Given the description of an element on the screen output the (x, y) to click on. 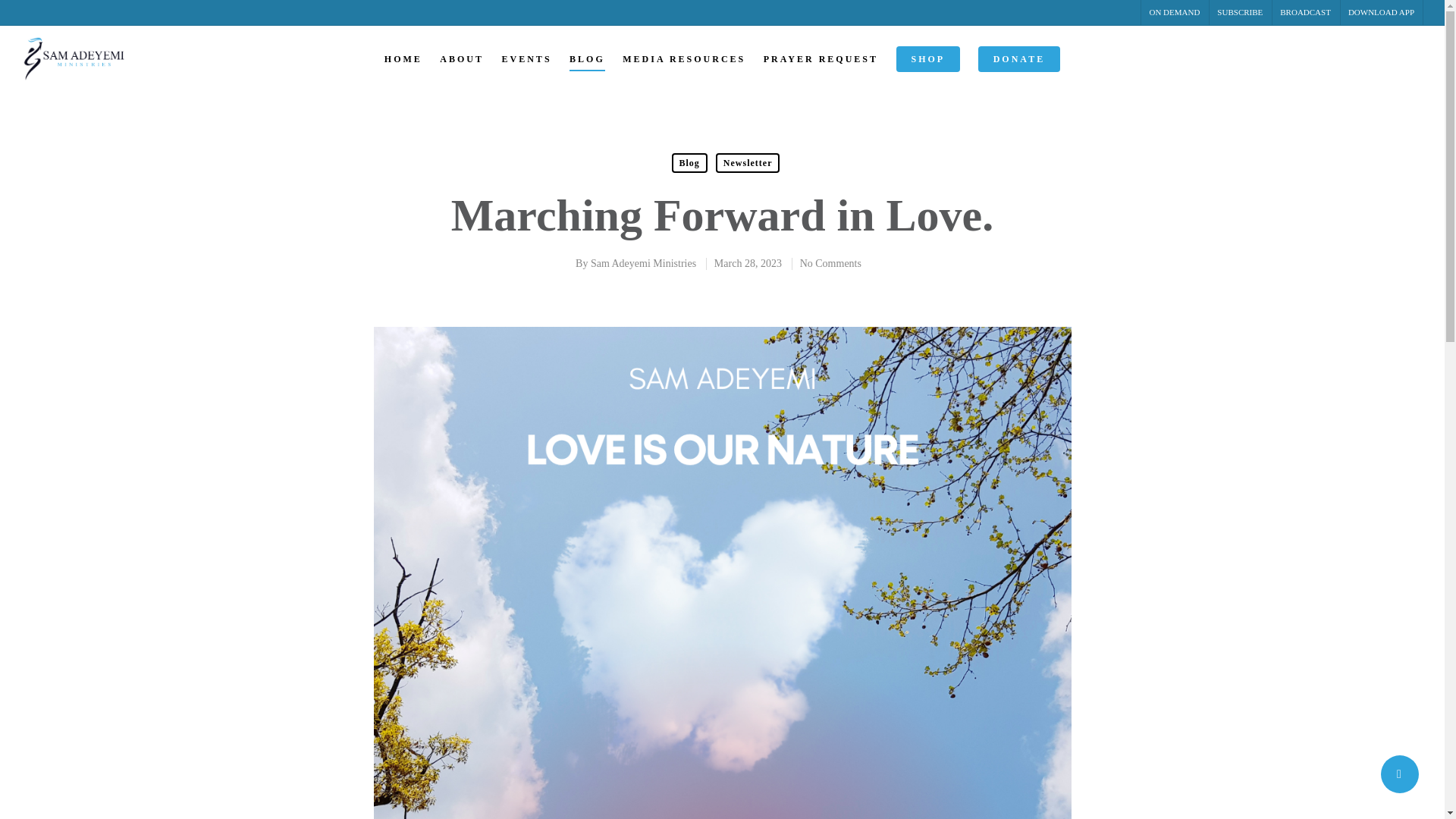
Posts by Sam Adeyemi Ministries (643, 263)
DONATE (1018, 64)
Sam Adeyemi Ministries (643, 263)
MEDIA RESOURCES (684, 64)
PRAYER REQUEST (819, 64)
BROADCAST (1304, 12)
No Comments (830, 263)
DOWNLOAD APP (1380, 12)
SHOP (928, 64)
SUBSCRIBE (1238, 12)
